Given the description of an element on the screen output the (x, y) to click on. 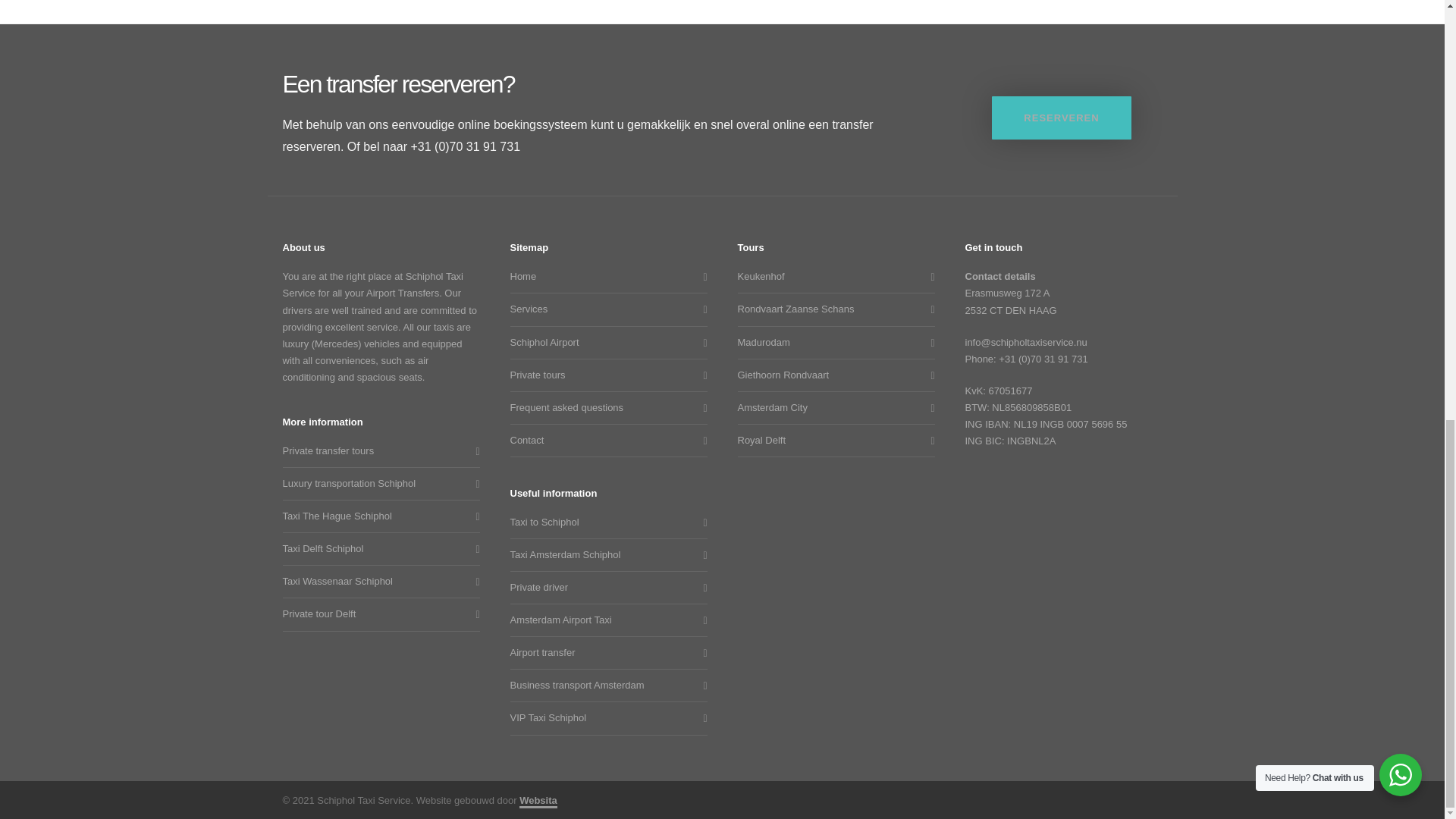
Services (603, 309)
Private tour Delft (376, 614)
Contact (603, 440)
RESERVEREN (1061, 117)
Private transfer tours (376, 451)
Schiphol Airport (603, 342)
Frequent asked questions (603, 407)
Taxi Wassenaar Schiphol (376, 581)
Taxi The Hague Schiphol (376, 515)
Home (603, 276)
